Given the description of an element on the screen output the (x, y) to click on. 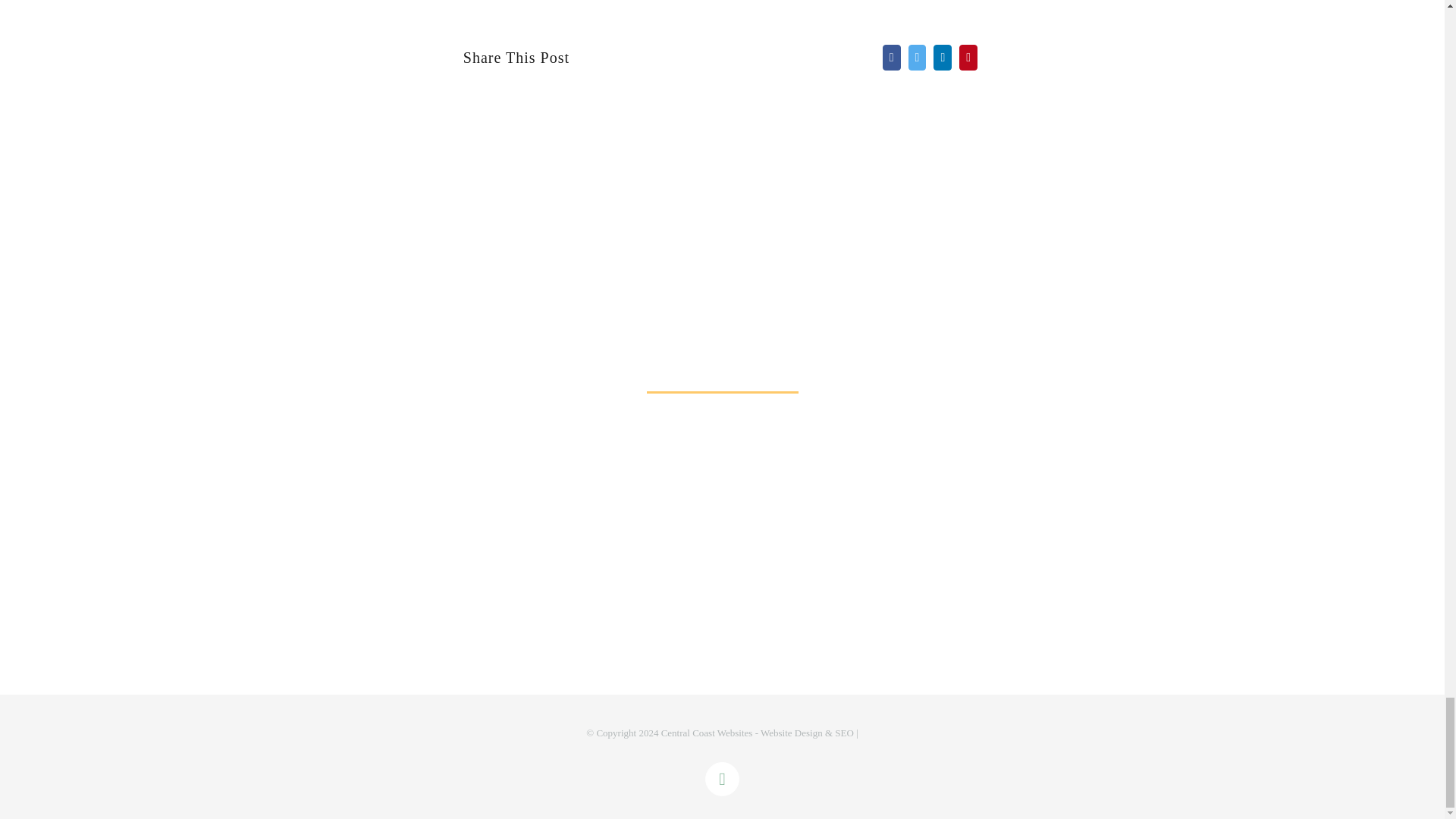
Facebook (721, 779)
